Given the description of an element on the screen output the (x, y) to click on. 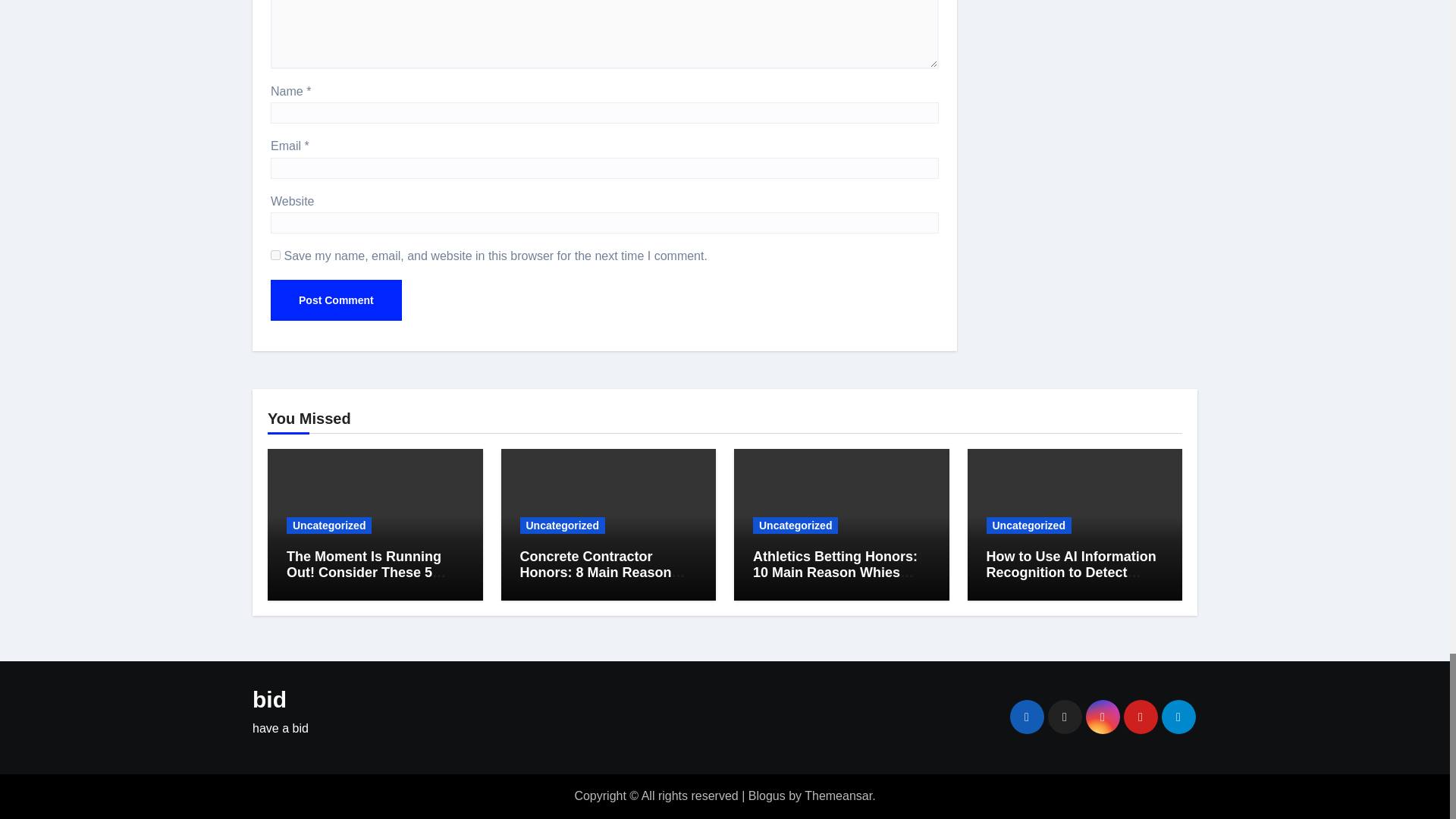
Post Comment (335, 300)
yes (275, 255)
